Given the description of an element on the screen output the (x, y) to click on. 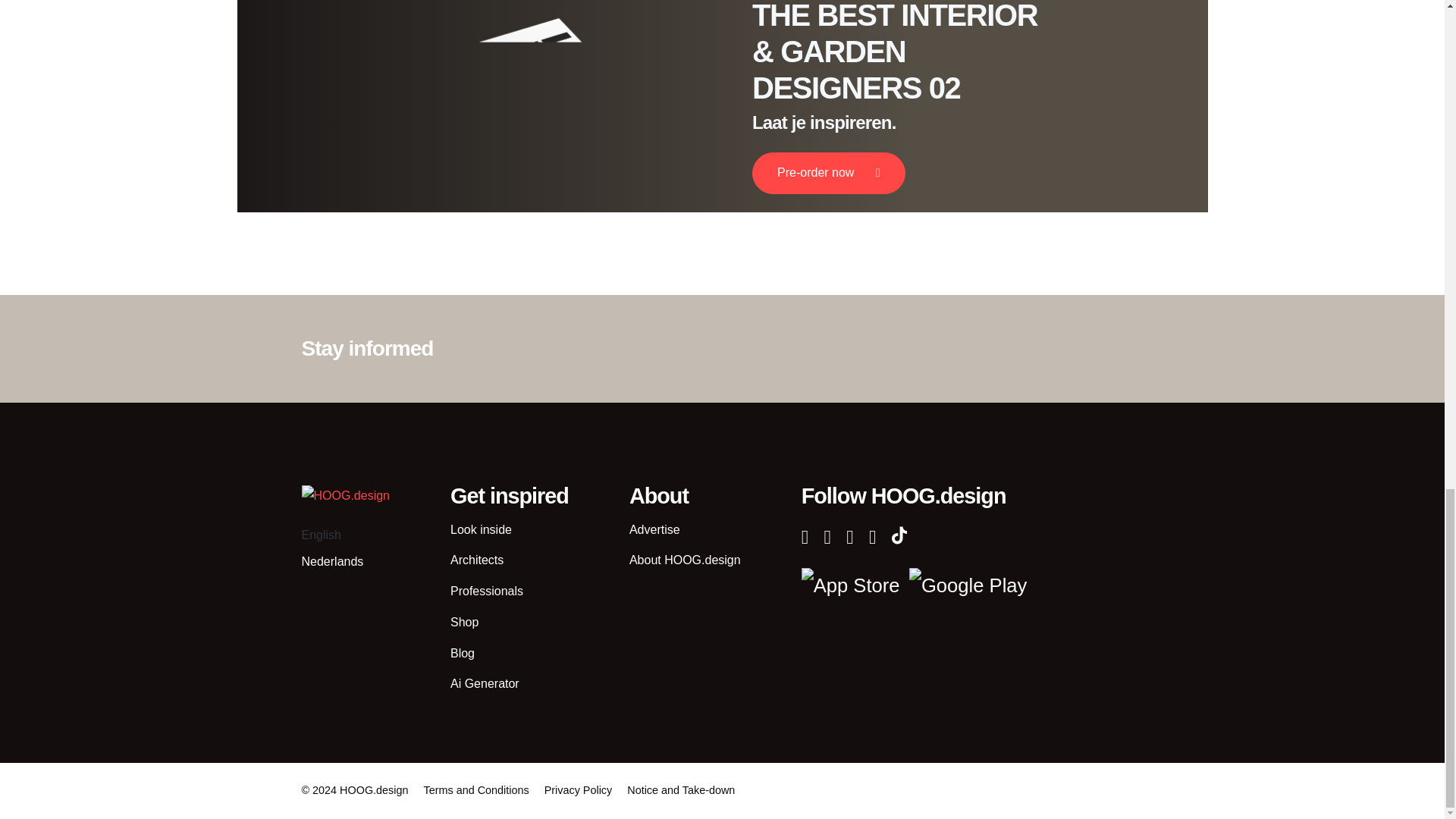
Blog (461, 653)
Professionals (485, 591)
Look inside (480, 530)
Architects (476, 560)
Shop (464, 622)
